Given the description of an element on the screen output the (x, y) to click on. 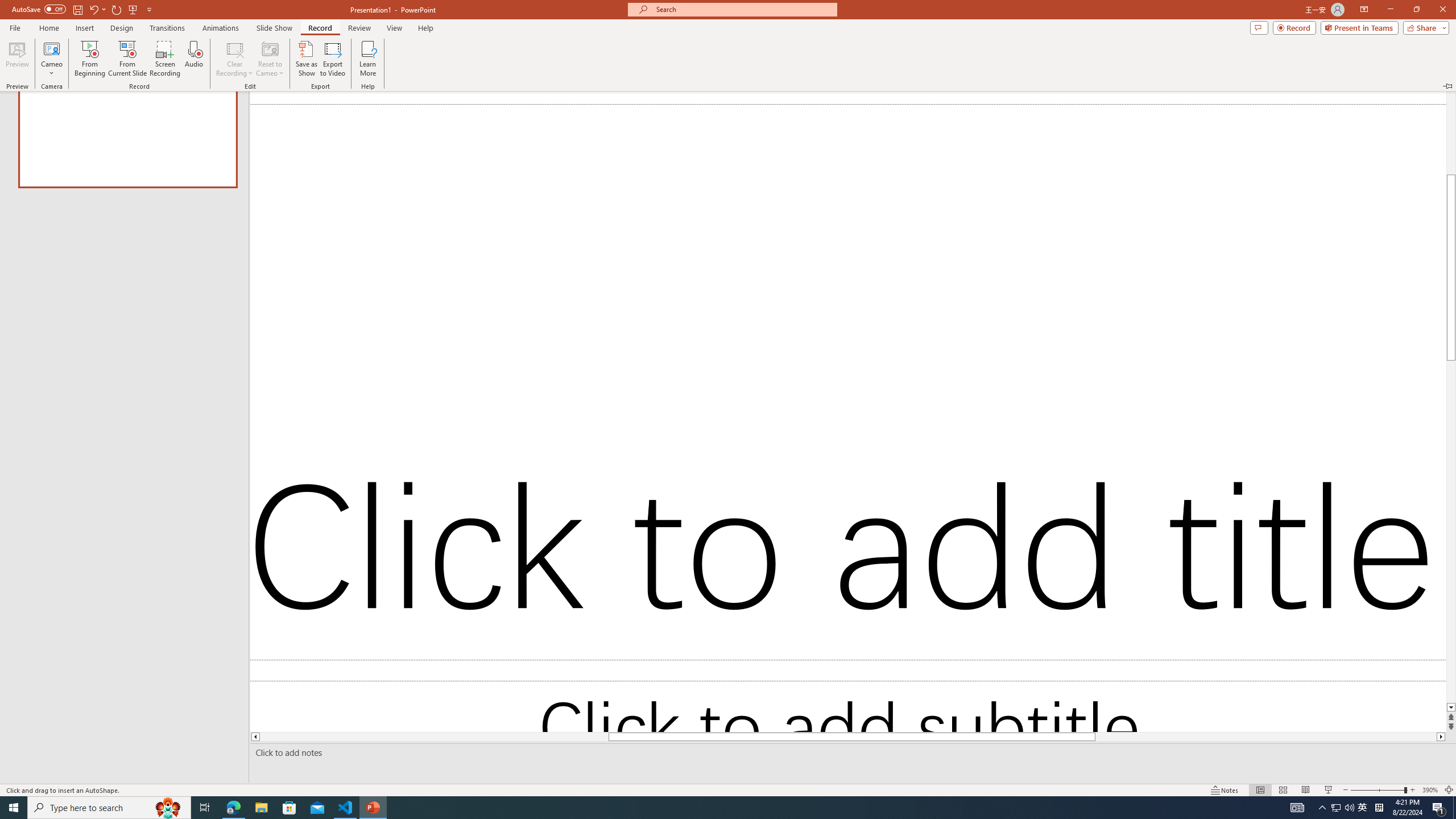
Zoom 390% (1430, 790)
